Given the description of an element on the screen output the (x, y) to click on. 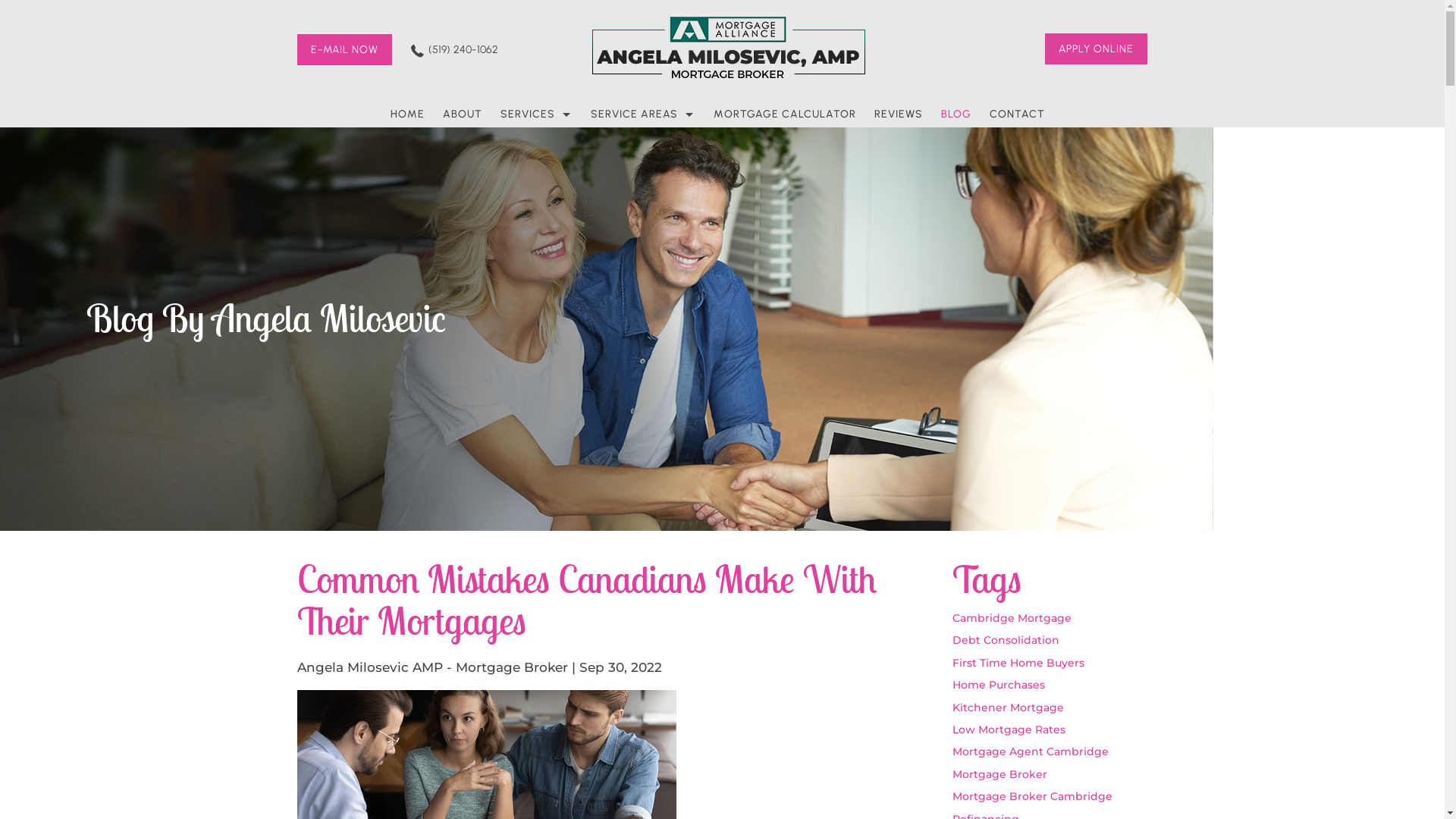
MORTGAGE CALCULATOR Element type: text (784, 114)
Mortgage Broker Cambridge Element type: text (1032, 796)
Home Purchases Element type: text (998, 684)
APPLY ONLINE Element type: text (1095, 48)
E-MAIL NOW Element type: text (344, 49)
CONTACT Element type: text (1017, 114)
(519) 240-1062 Element type: text (452, 49)
HOME Element type: text (411, 114)
REVIEWS Element type: text (898, 114)
Mortgage Broker Element type: text (999, 774)
BLOG Element type: text (955, 114)
Kitchener Mortgage Element type: text (1007, 707)
First Time Home Buyers Element type: text (1018, 662)
SERVICES Element type: text (536, 114)
Debt Consolidation Element type: text (1005, 639)
SERVICE AREAS Element type: text (642, 114)
Common Mistakes Canadians Make With Their Mortgages Element type: text (586, 593)
Low Mortgage Rates Element type: text (1008, 729)
ABOUT Element type: text (462, 114)
Cambridge Mortgage Element type: text (1011, 617)
Mortgage Agent Cambridge Element type: text (1030, 751)
